Given the description of an element on the screen output the (x, y) to click on. 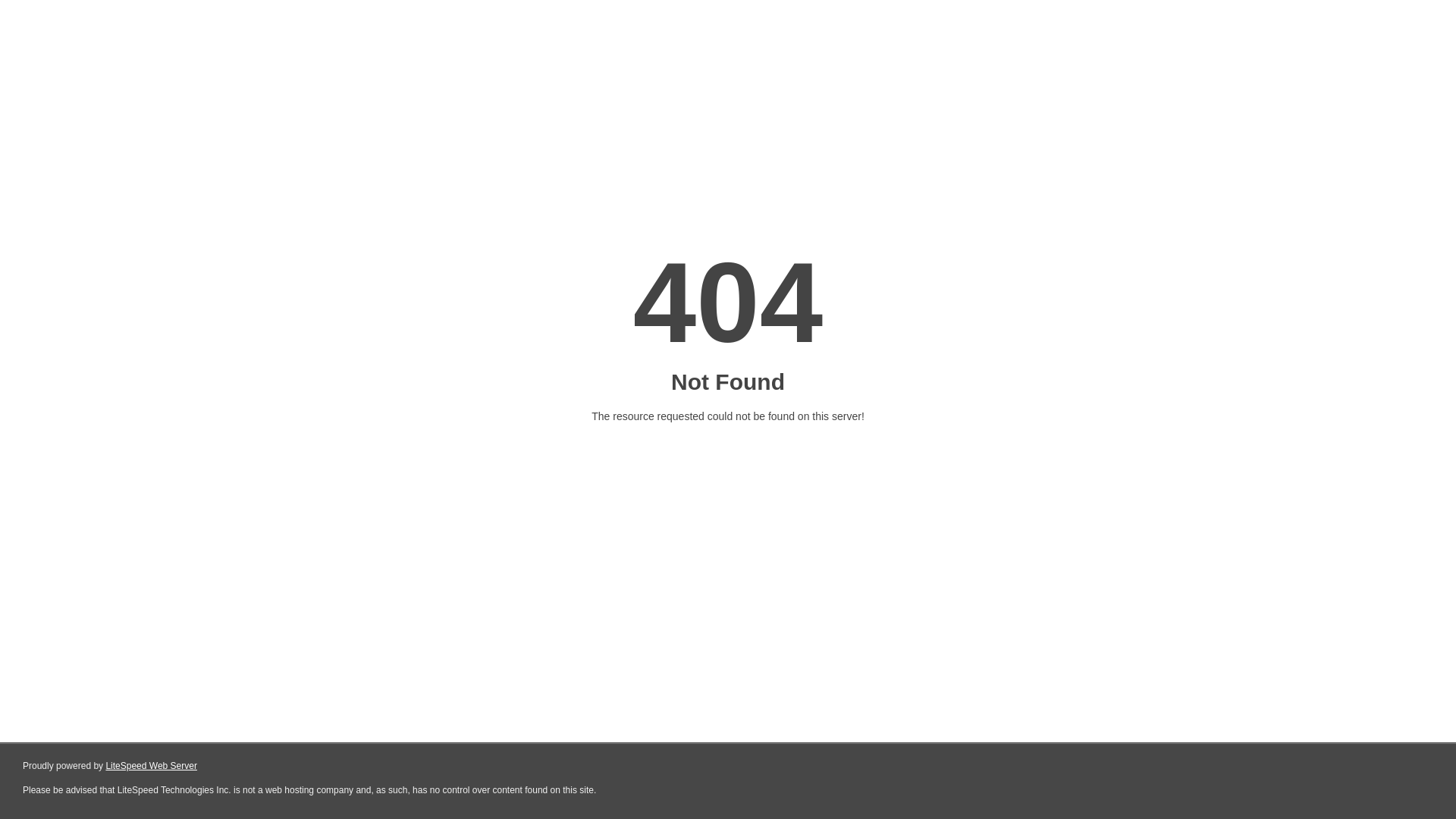
LiteSpeed Web Server Element type: text (151, 765)
